Given the description of an element on the screen output the (x, y) to click on. 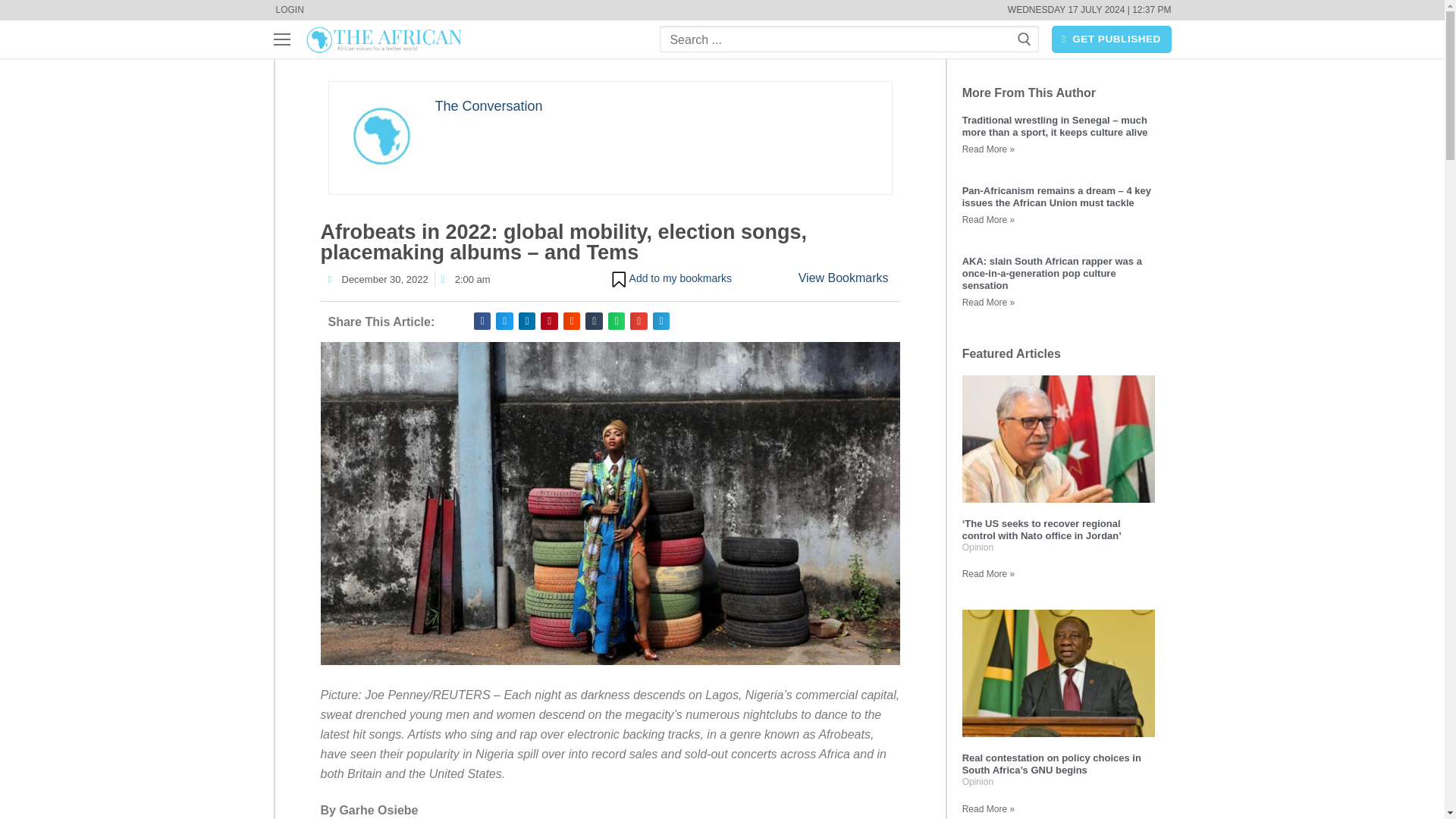
View Bookmarks (842, 277)
Bookmark This (671, 279)
Add to my bookmarks (671, 279)
GET PUBLISHED (1111, 39)
December 30, 2022 (377, 279)
The Conversation (489, 105)
Search for: (849, 39)
LOGIN (288, 11)
